Given the description of an element on the screen output the (x, y) to click on. 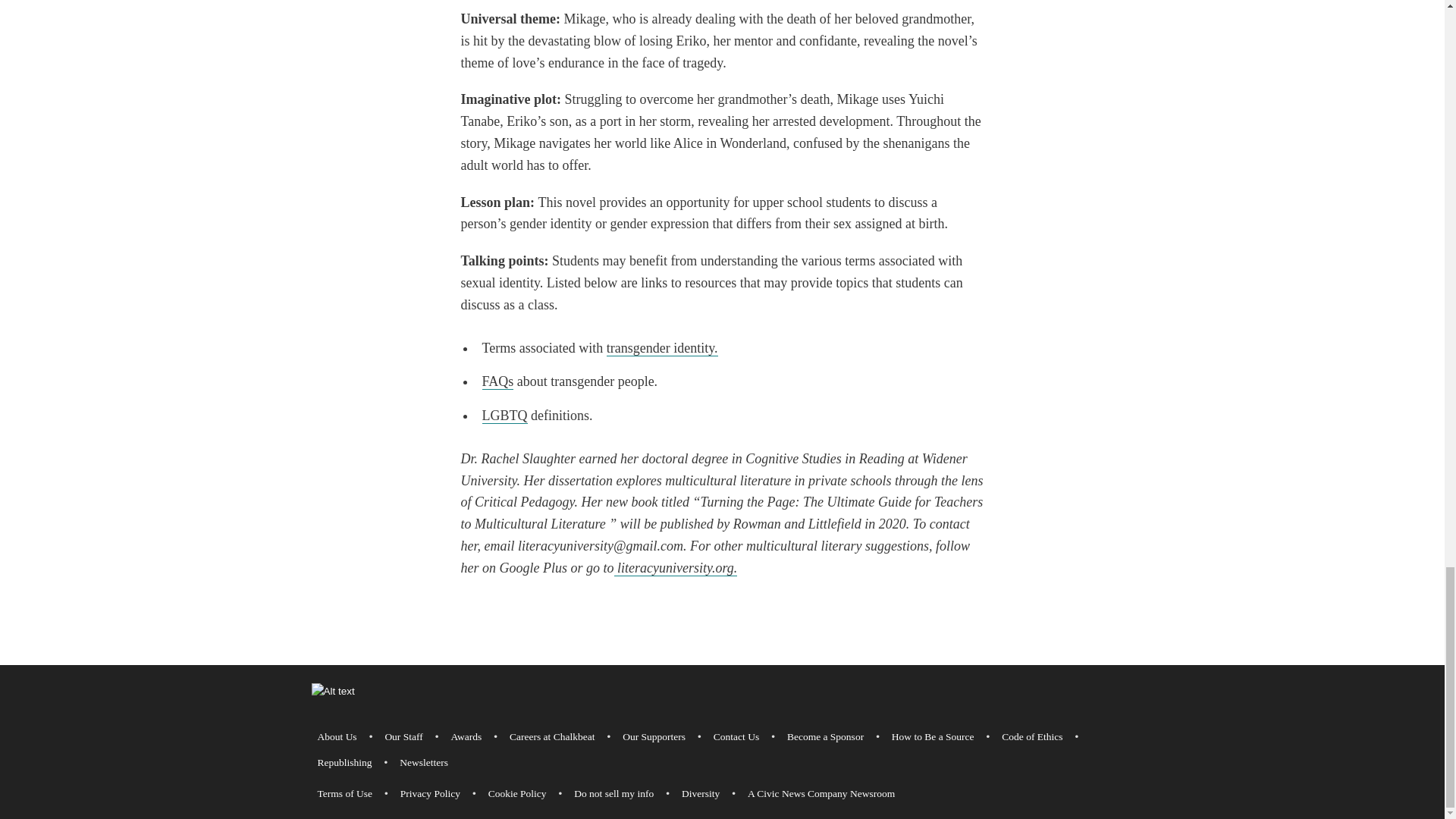
Terms of Use (344, 793)
Code of Ethics (1031, 736)
About Us (336, 736)
Contact Us (736, 736)
Awards (465, 736)
Our Supporters (653, 736)
Privacy Policy (429, 793)
FAQs (497, 381)
How to Be a Source (932, 736)
Become a Sponsor (824, 736)
